Given the description of an element on the screen output the (x, y) to click on. 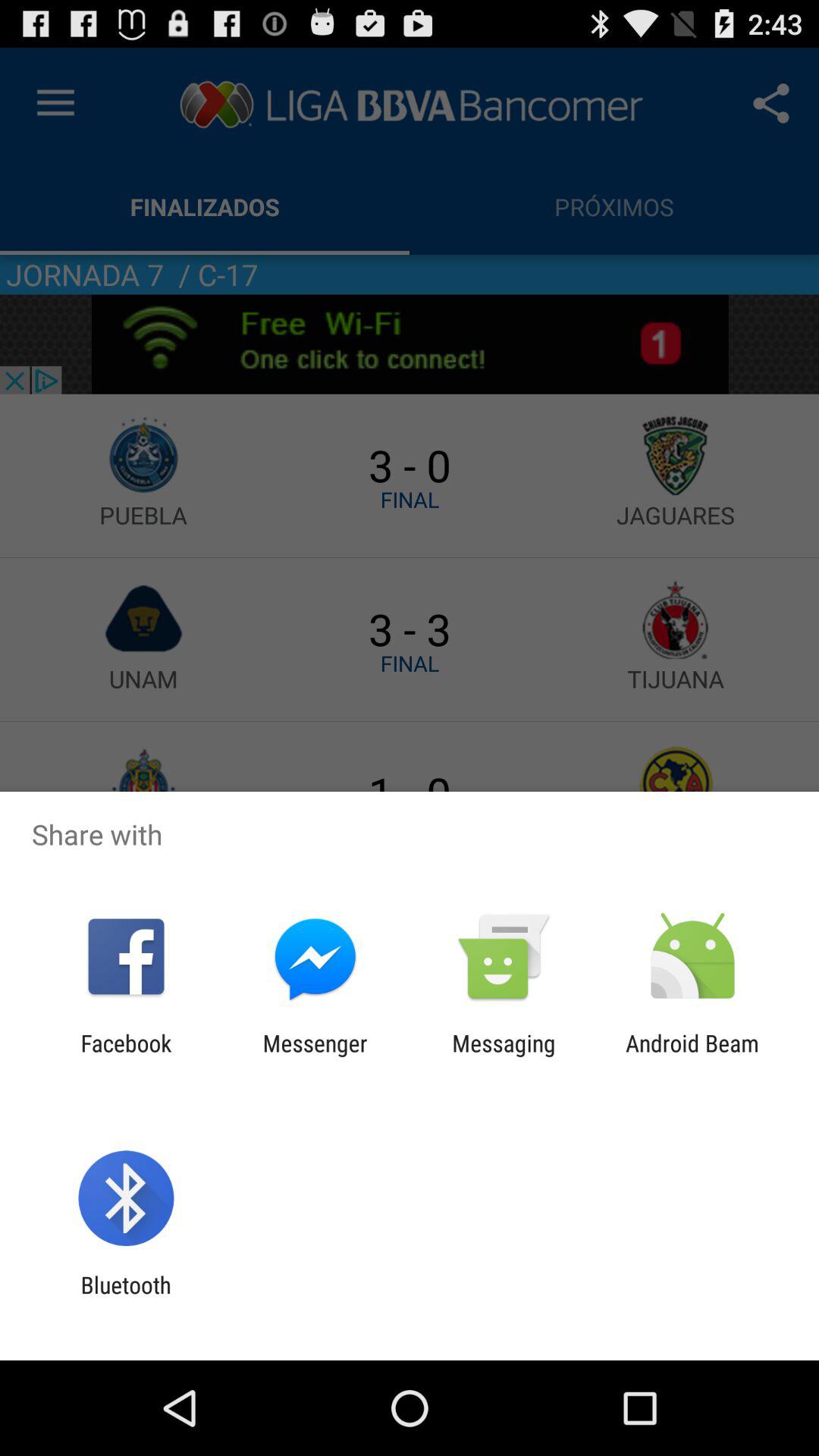
press the item to the right of messenger item (503, 1056)
